Given the description of an element on the screen output the (x, y) to click on. 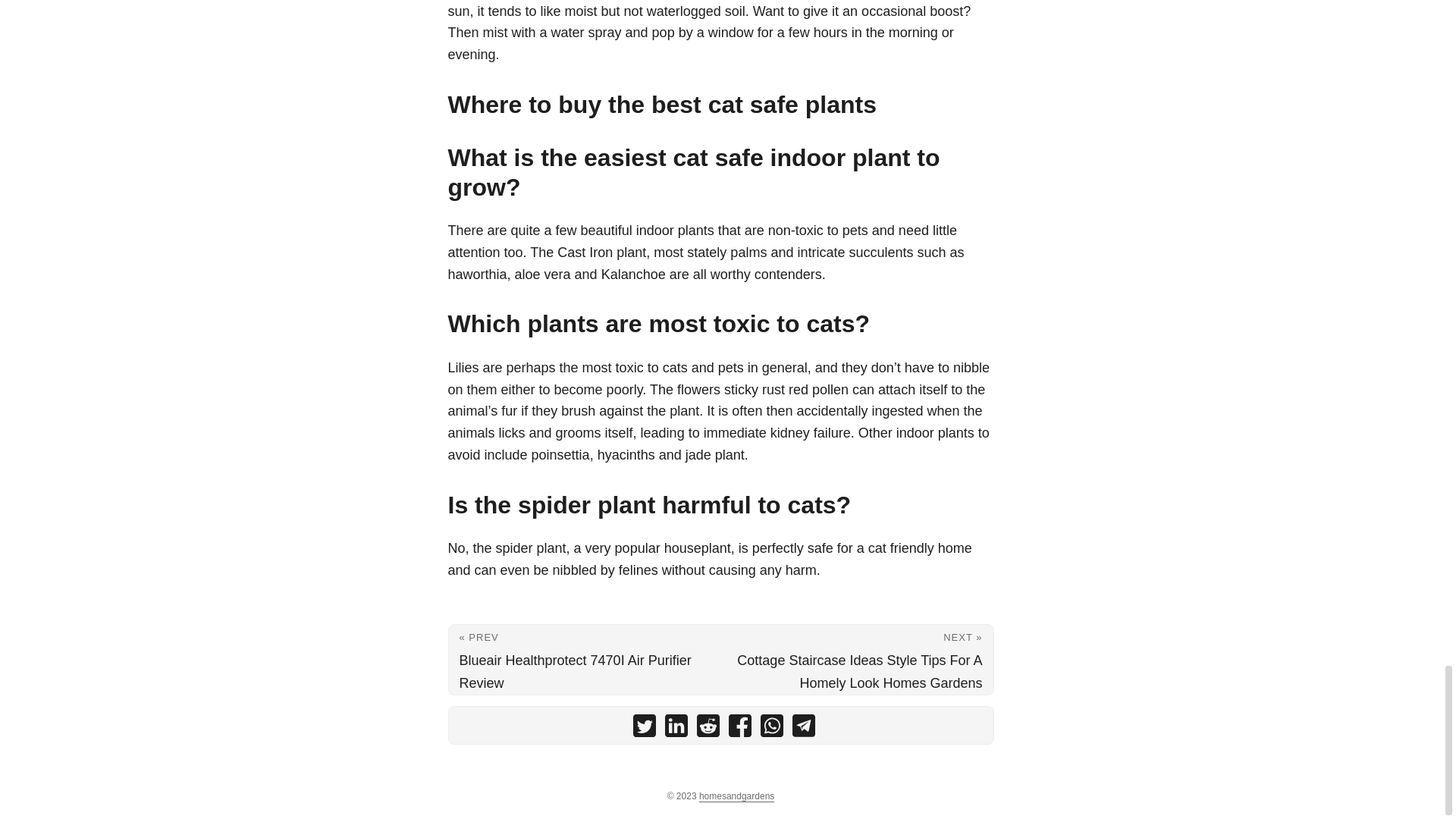
homesandgardens (736, 796)
